Given the description of an element on the screen output the (x, y) to click on. 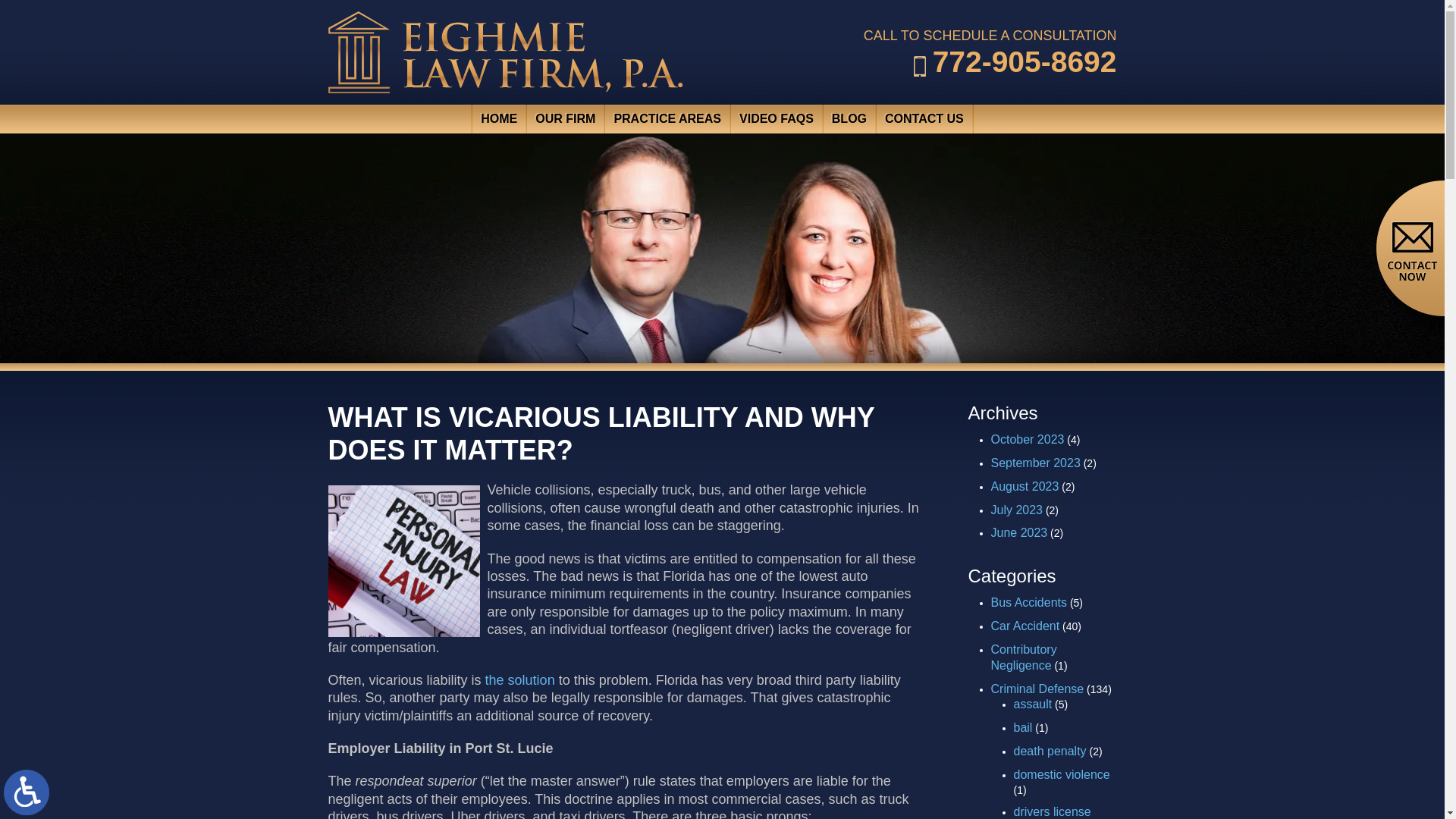
772-905-8692 (1015, 61)
PRACTICE AREAS (667, 118)
July 2023 (1016, 509)
CONTACT US (924, 118)
August 2023 (1024, 486)
BLOG (849, 118)
VIDEO FAQS (776, 118)
the solution (519, 679)
October 2023 (1027, 439)
September 2023 (1035, 462)
OUR FIRM (565, 118)
June 2023 (1018, 532)
HOME (497, 118)
